Given the description of an element on the screen output the (x, y) to click on. 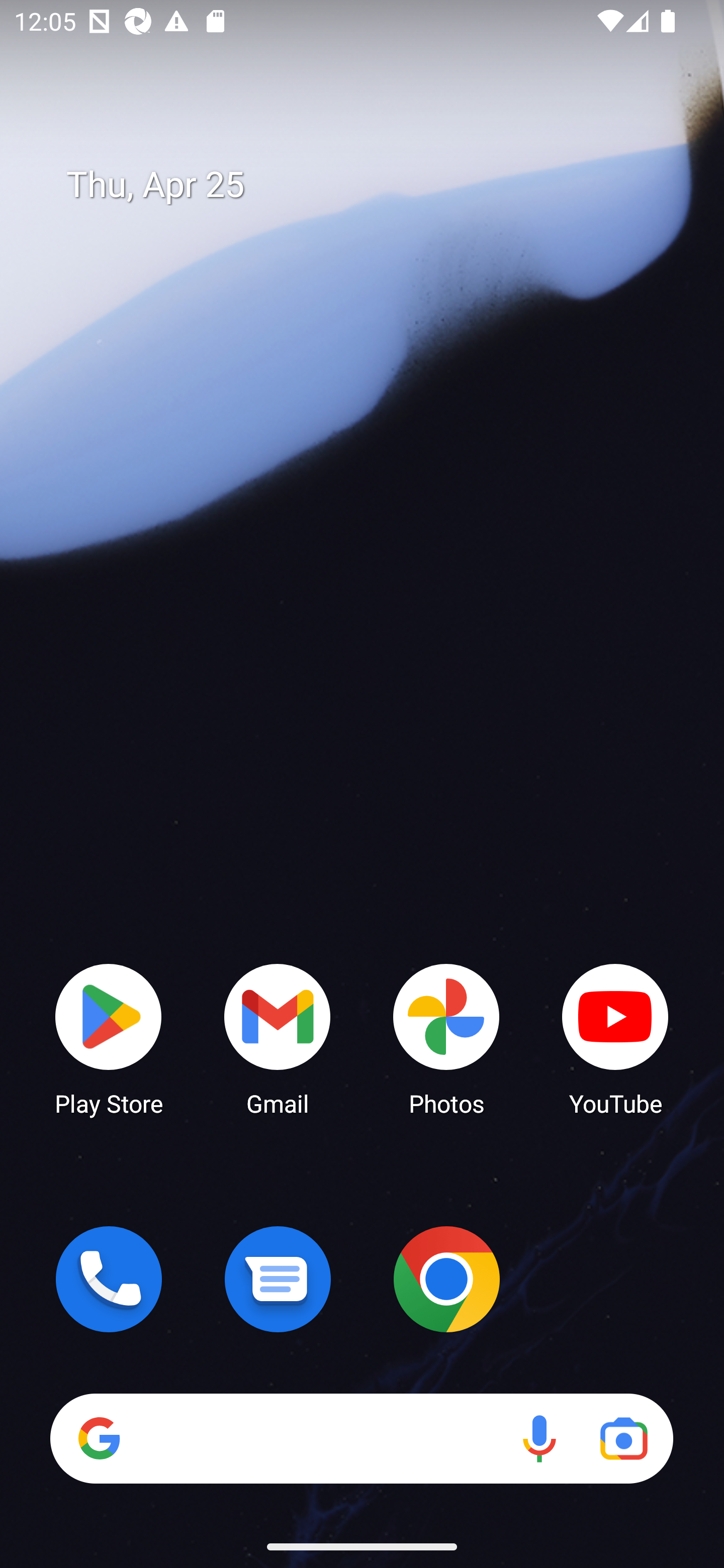
Thu, Apr 25 (375, 184)
Play Store (108, 1038)
Gmail (277, 1038)
Photos (445, 1038)
YouTube (615, 1038)
Phone (108, 1279)
Messages (277, 1279)
Chrome (446, 1279)
Search Voice search Google Lens (361, 1438)
Voice search (539, 1438)
Google Lens (623, 1438)
